Given the description of an element on the screen output the (x, y) to click on. 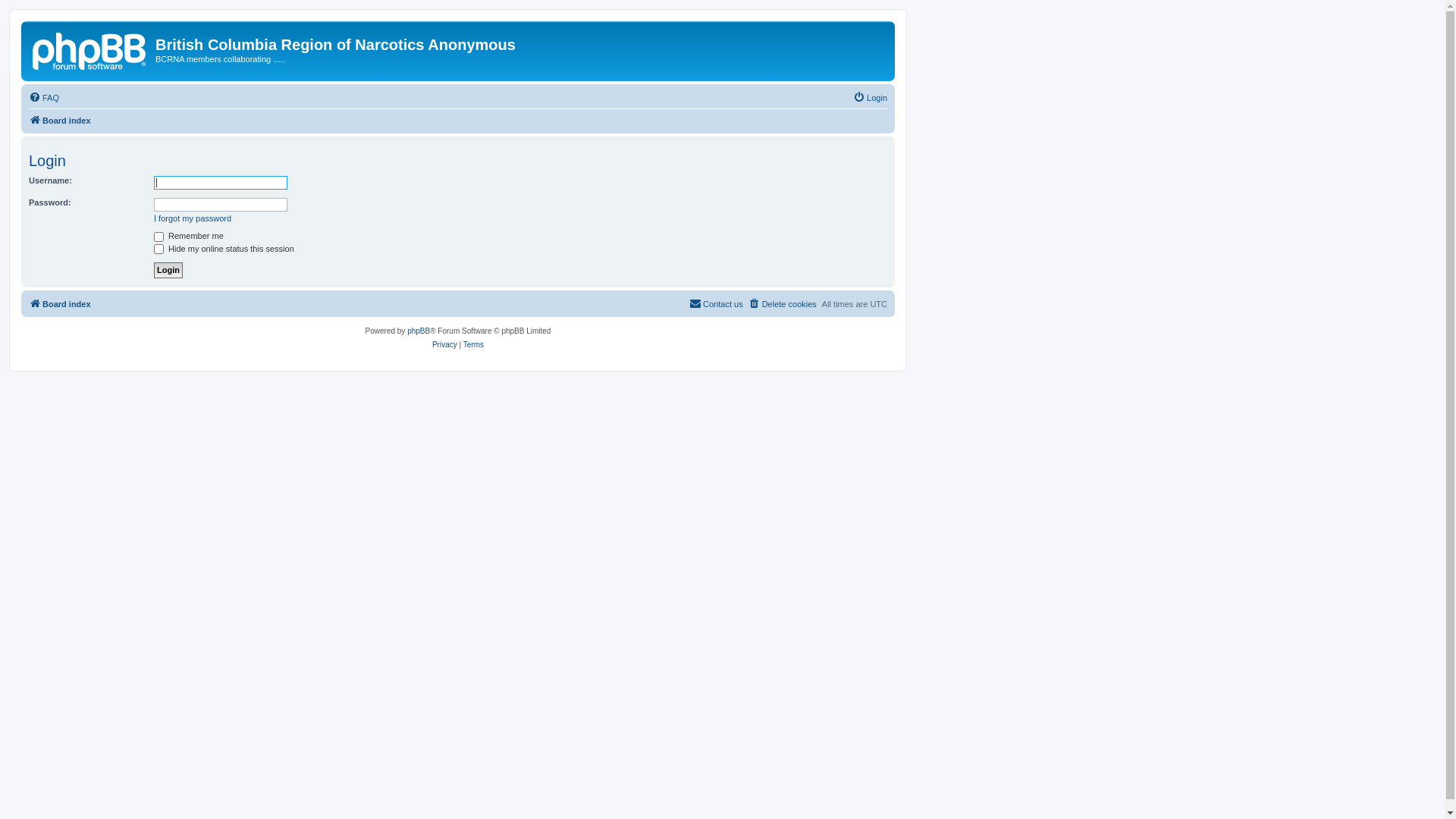
Contact us Element type: text (716, 303)
phpBB Element type: text (418, 331)
Delete cookies Element type: text (782, 303)
Board index Element type: text (59, 120)
Privacy Element type: text (444, 344)
FAQ Element type: text (43, 97)
Terms Element type: text (473, 344)
I forgot my password Element type: text (192, 217)
Login Element type: text (870, 97)
Board index Element type: hover (90, 49)
Board index Element type: text (59, 303)
Login Element type: text (167, 270)
